Given the description of an element on the screen output the (x, y) to click on. 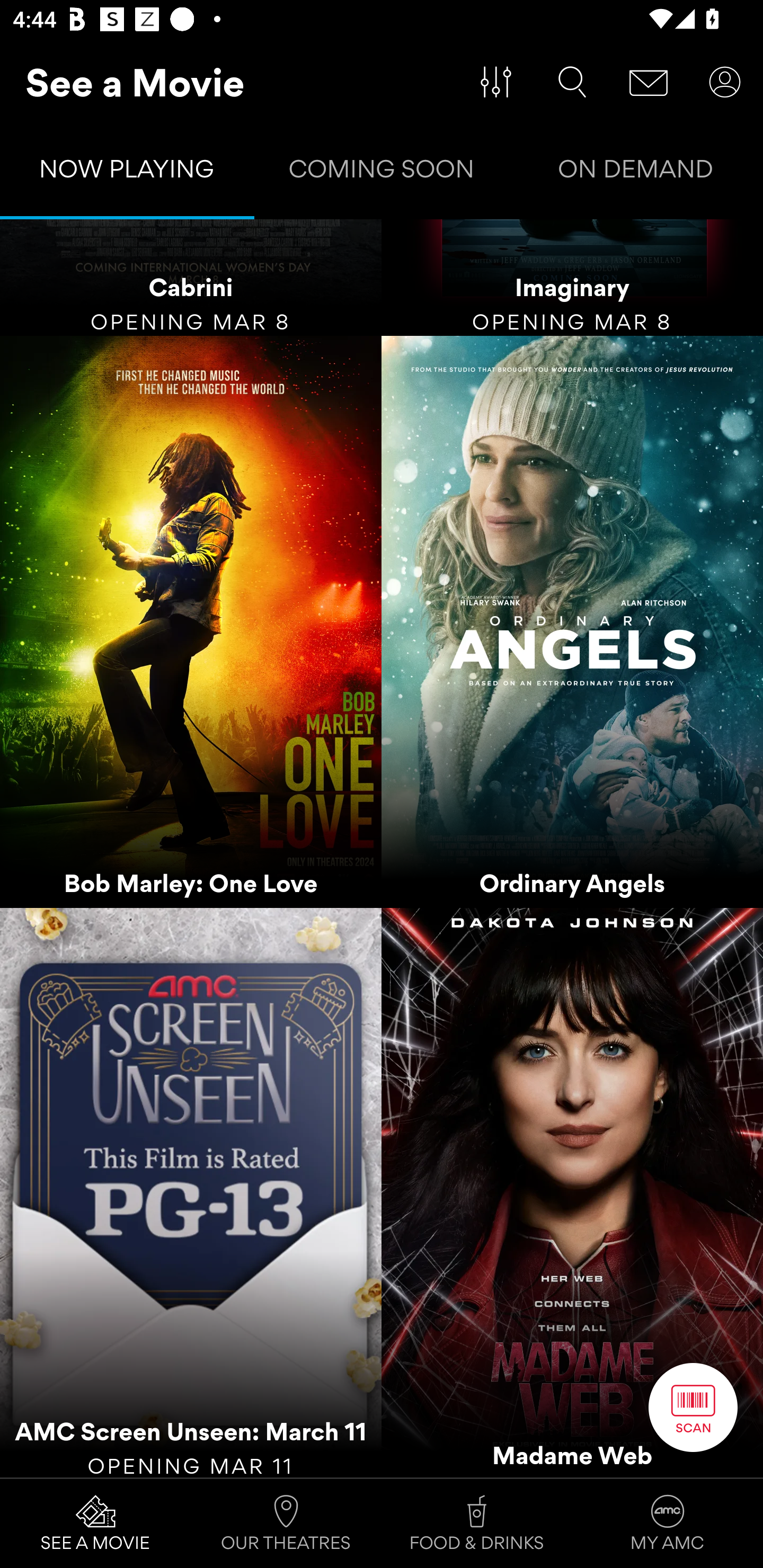
Filter Movies (495, 82)
Search (572, 82)
Message Center (648, 82)
User Account (724, 82)
NOW PLAYING
Tab 1 of 3 (127, 173)
COMING SOON
Tab 2 of 3 (381, 173)
ON DEMAND
Tab 3 of 3 (635, 173)
Cabrini
OPENING MAR 8 (190, 277)
Imaginary
OPENING MAR 8 (572, 277)
Bob Marley: One Love (190, 621)
Ordinary Angels (572, 621)
AMC Screen Unseen: March 11
OPENING MAR 11 (190, 1192)
Madame Web (572, 1192)
Scan Button (692, 1406)
SEE A MOVIE
Tab 1 of 4 (95, 1523)
OUR THEATRES
Tab 2 of 4 (285, 1523)
FOOD & DRINKS
Tab 3 of 4 (476, 1523)
MY AMC
Tab 4 of 4 (667, 1523)
